Given the description of an element on the screen output the (x, y) to click on. 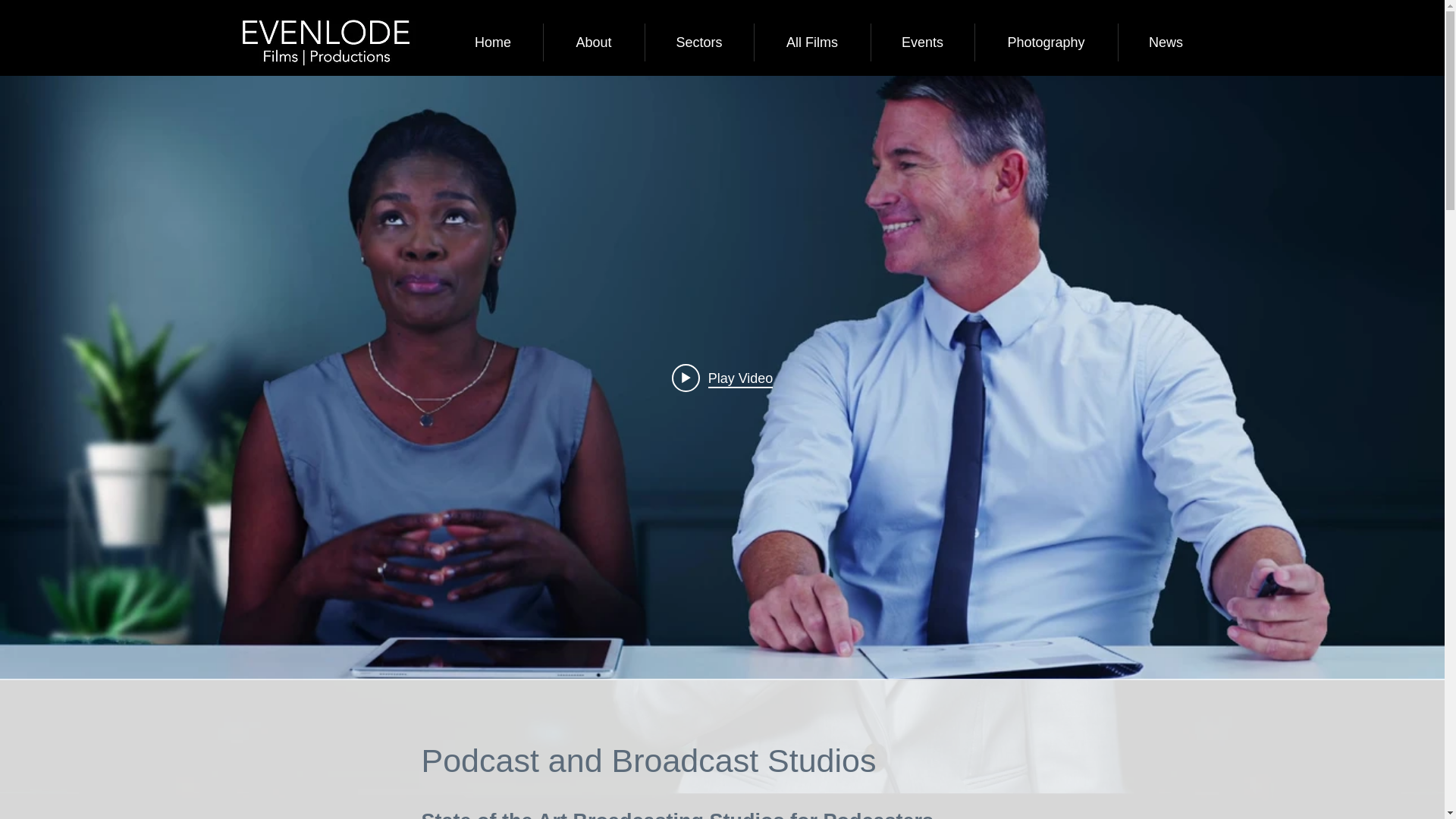
About (594, 42)
Photography (1045, 42)
Home (491, 42)
Events (922, 42)
All Films (812, 42)
Play Video (722, 377)
News (1166, 42)
Evenlode Films and Productions Studio www.evenlodefilms.com (324, 39)
